Given the description of an element on the screen output the (x, y) to click on. 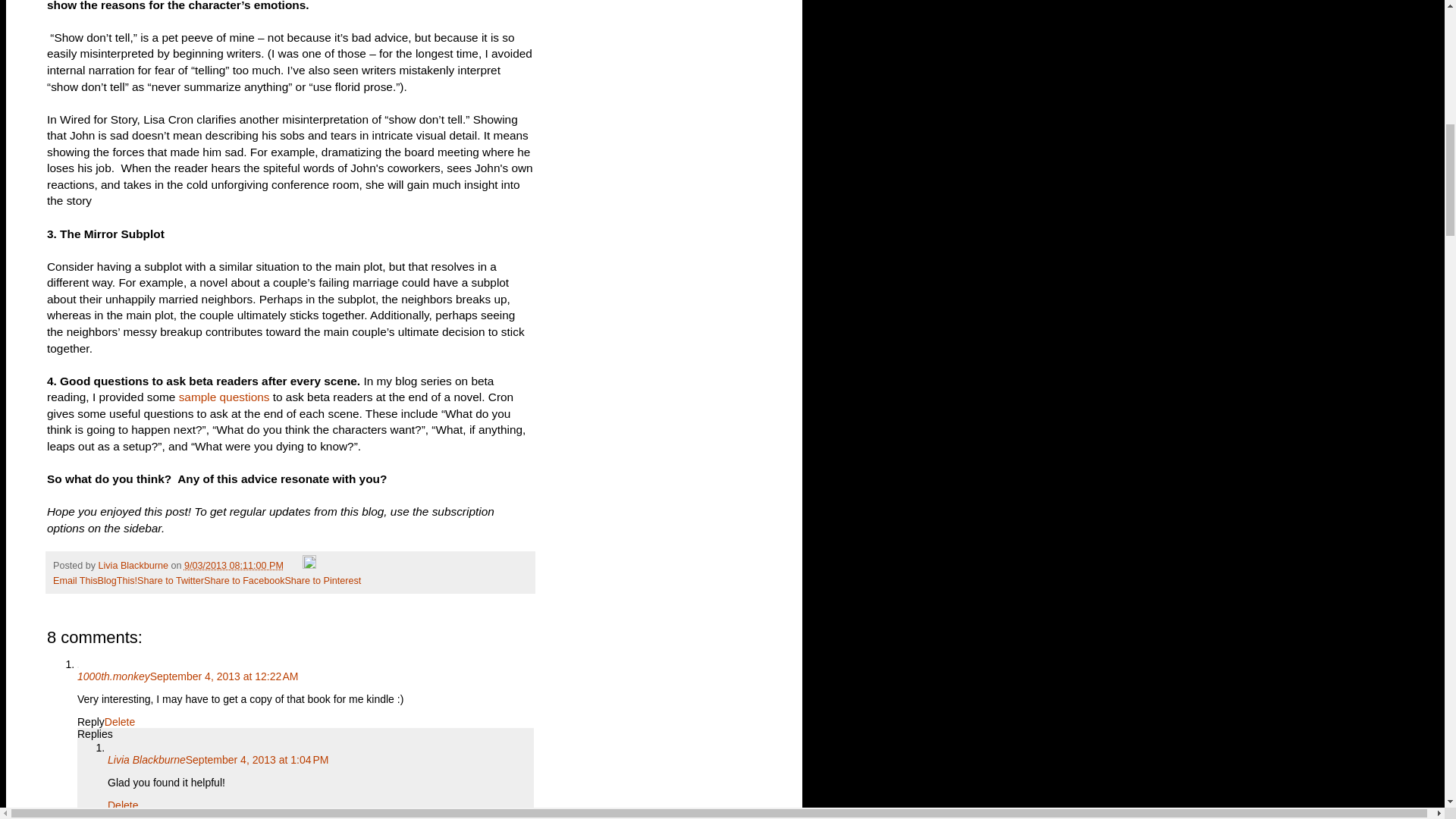
Reply (90, 721)
Share to Twitter (169, 580)
Share to Pinterest (322, 580)
Delete (122, 805)
Email This (74, 580)
Replies (95, 734)
Livia Blackburne (146, 759)
Share to Pinterest (322, 580)
Replies (124, 815)
Share to Twitter (169, 580)
Share to Facebook (243, 580)
author profile (135, 565)
BlogThis! (117, 580)
Email Post (293, 565)
